Given the description of an element on the screen output the (x, y) to click on. 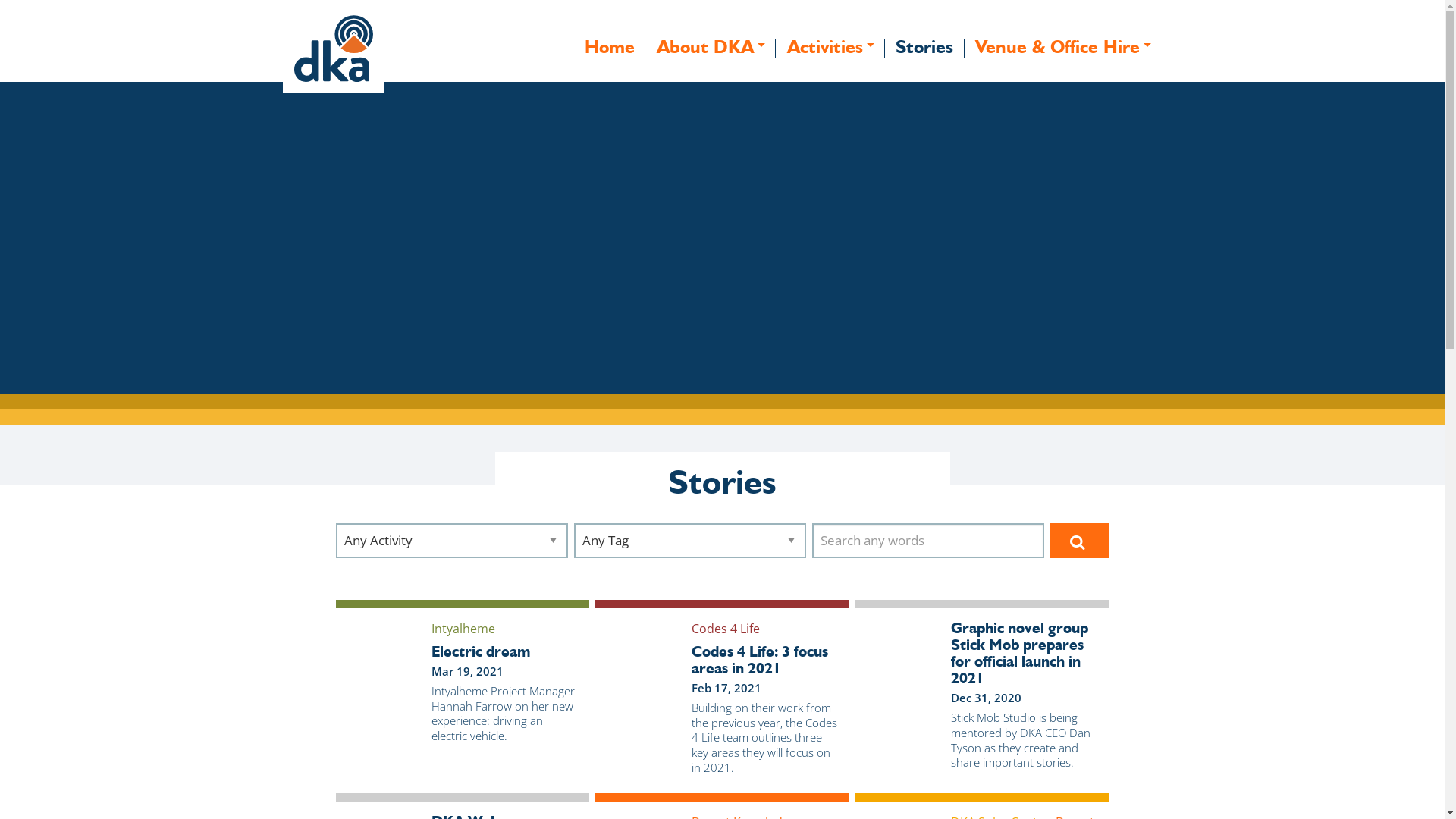
Home Element type: text (610, 47)
Codes 4 Life: 3 focus areas in 2021 Element type: text (764, 659)
Search Element type: hover (1079, 540)
Electric dream Element type: text (504, 651)
Activities Element type: text (829, 47)
Codes 4 Life Element type: text (725, 628)
Intyalheme Element type: text (463, 628)
Stories Element type: text (924, 47)
Venue & Office Hire Element type: text (1063, 47)
About DKA Element type: text (710, 47)
